Given the description of an element on the screen output the (x, y) to click on. 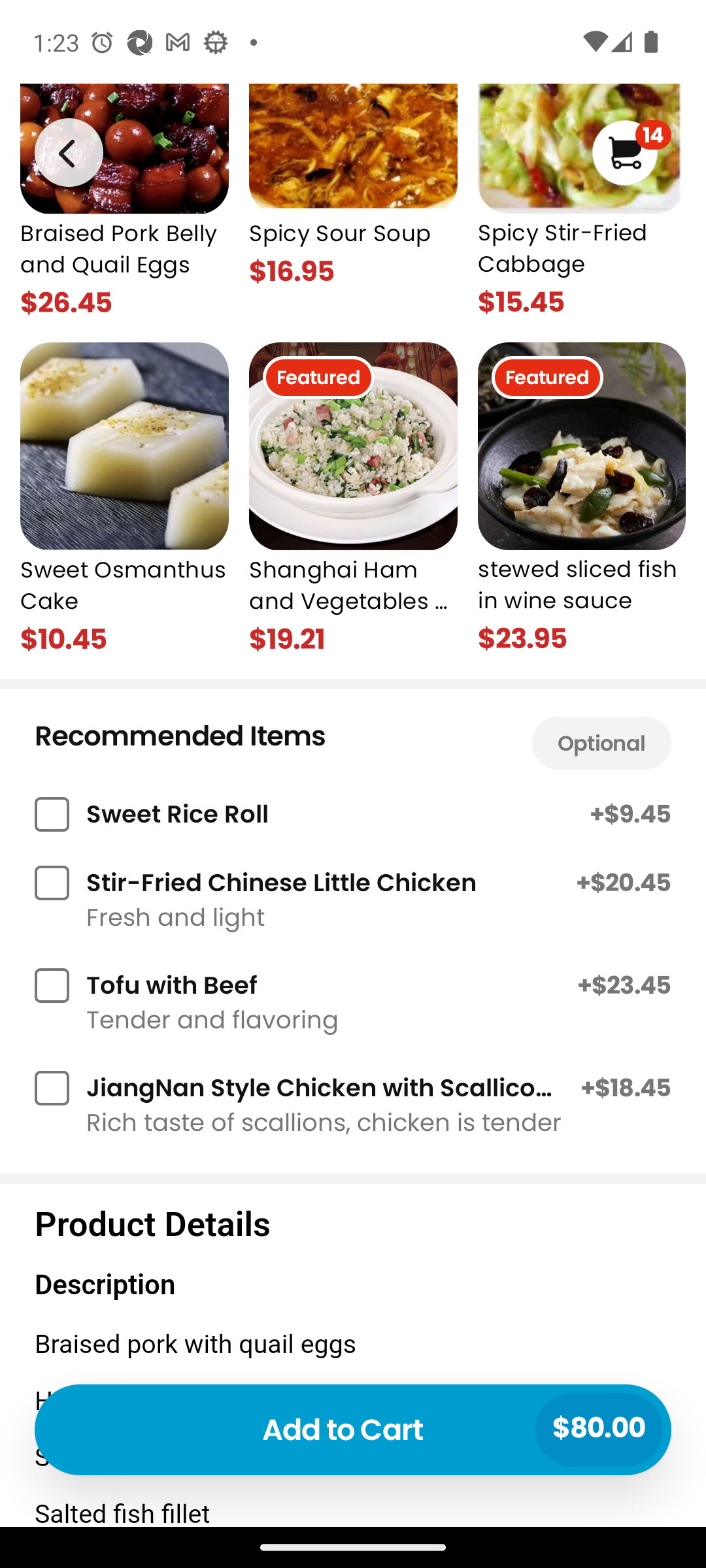
Image Braised Pork Belly and Quail Eggs $26.45 (124, 202)
Image Spicy Sour Soup $16.95 (353, 202)
Image Spicy Stir-Fried Cabbage $15.45 (581, 202)
Image (68, 151)
14 (631, 152)
Image Sweet Osmanthus Cake $10.45 (124, 499)
Recommended Items Optional (353, 737)
Add to Cart $80.00 (352, 1429)
